Given the description of an element on the screen output the (x, y) to click on. 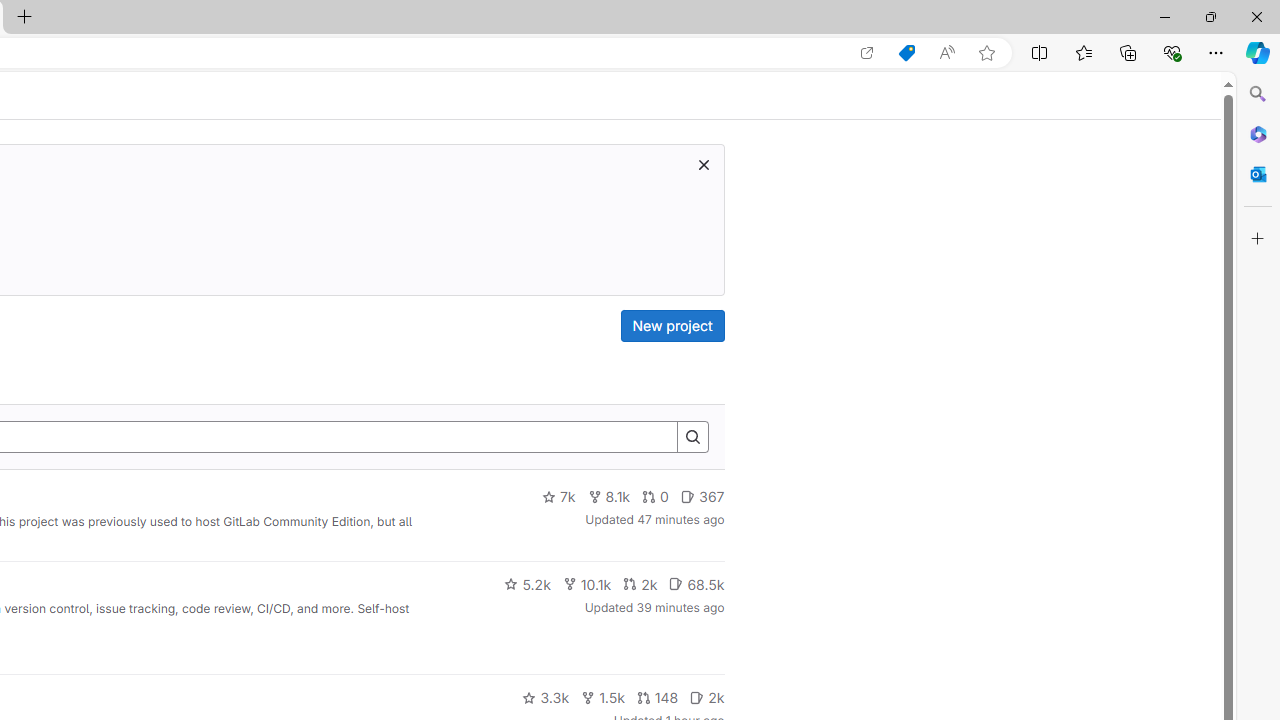
Shopping in Microsoft Edge (906, 53)
